Given the description of an element on the screen output the (x, y) to click on. 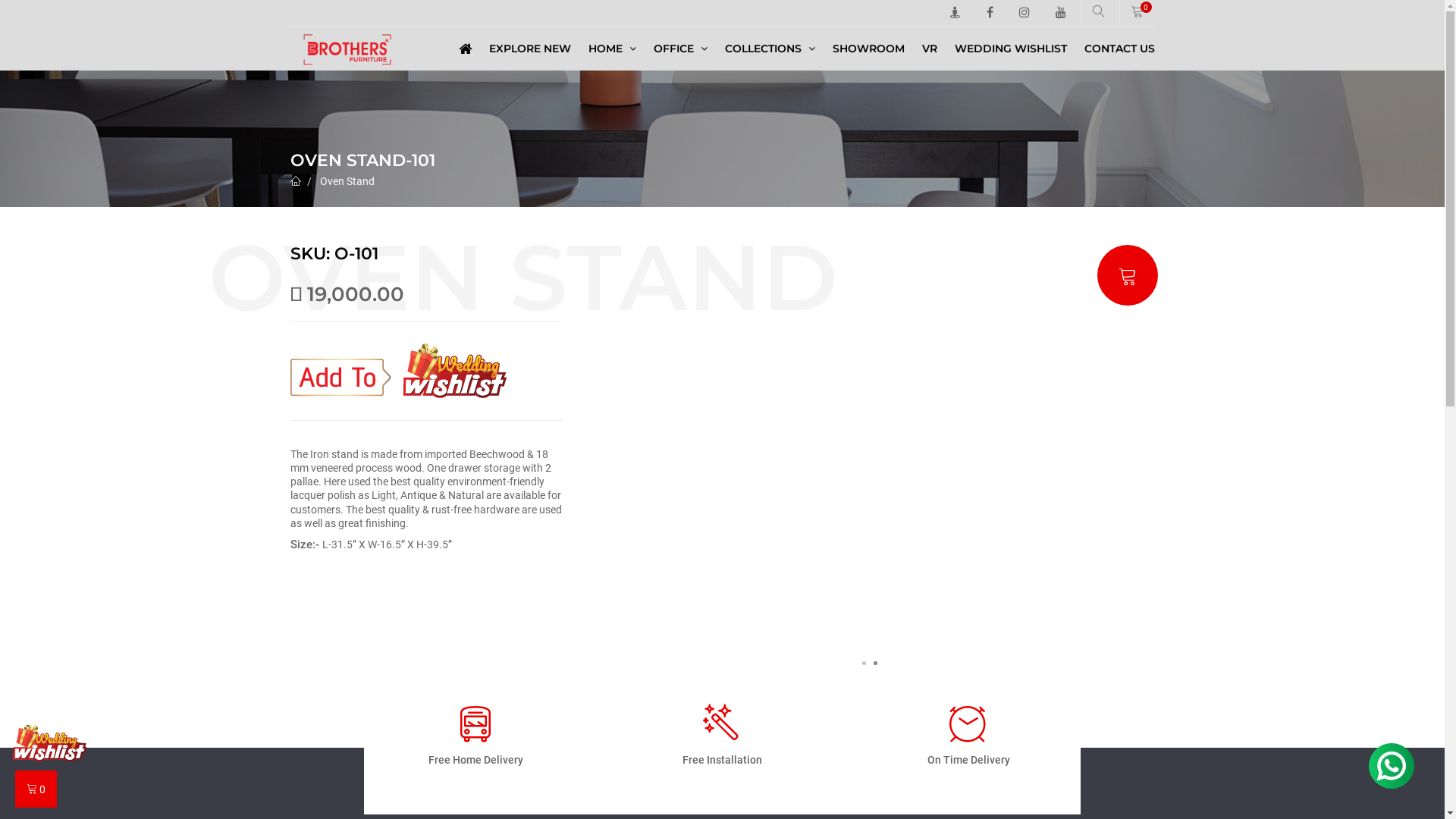
Oven Stand Element type: text (347, 181)
OFFICE Element type: text (680, 48)
Wish list Element type: hover (397, 370)
3 SEATER Sofa Element type: text (721, 82)
Go! Element type: text (1123, 87)
HOME Element type: text (611, 48)
COLLECTIONS Element type: text (769, 48)
SHOWROOM Element type: text (868, 48)
VIEW ALL Element type: text (431, 78)
CONTACT US Element type: text (1115, 48)
EXPLORE NEW Element type: text (528, 48)
Brothers Furniture Ltd App Element type: hover (49, 743)
WEDDING WISHLIST Element type: text (1009, 48)
Oven Stand-101 Element type: hover (869, 457)
Oven Stand-101 Element type: hover (300, 457)
0 Element type: text (1136, 12)
Brothers Furniture Ltd Element type: hover (346, 49)
VR Element type: text (929, 48)
